Given the description of an element on the screen output the (x, y) to click on. 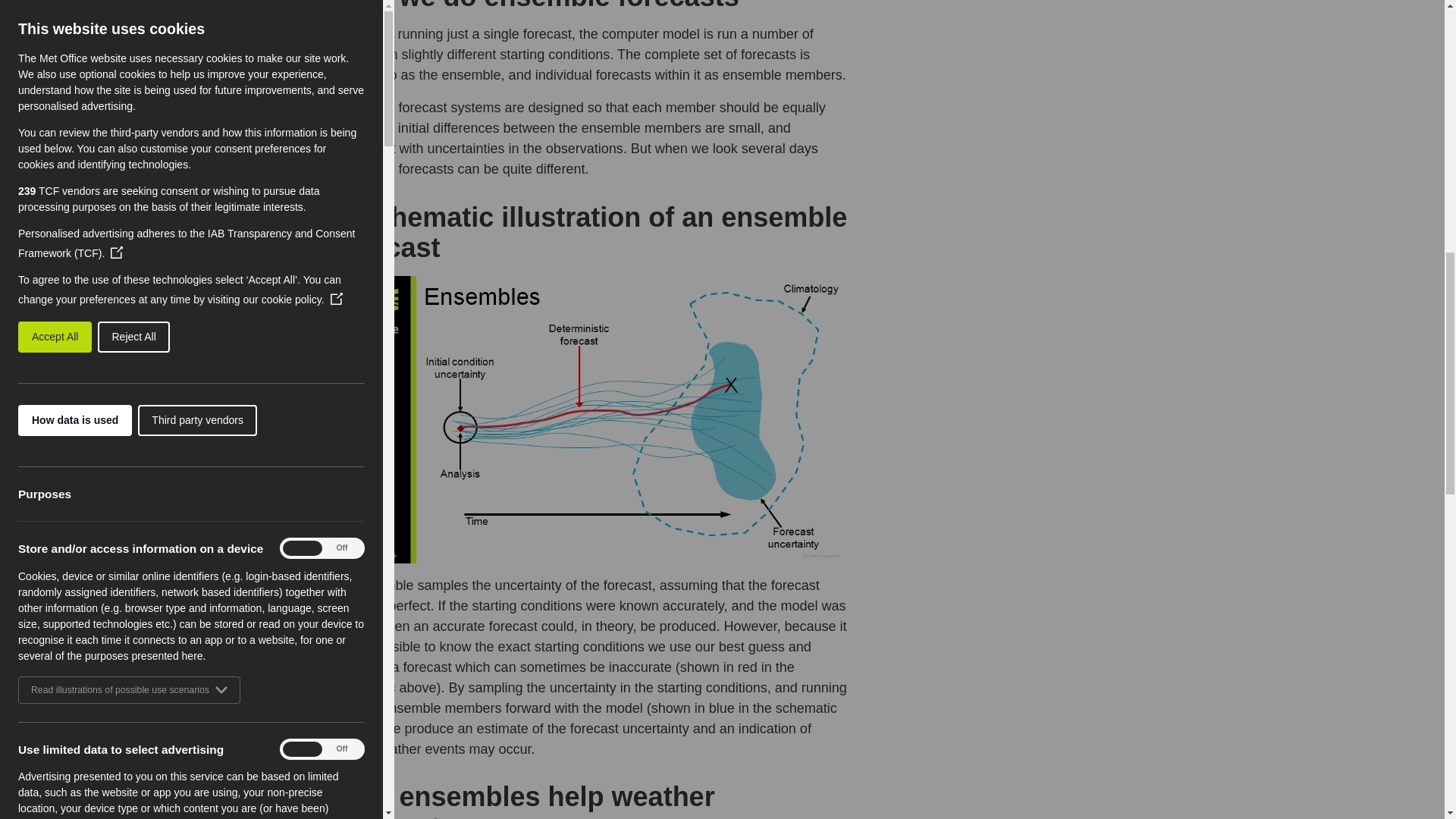
Read illustrations of possible use scenarios (124, 102)
Read illustrations of possible use scenarios (128, 520)
Read illustrations of possible use scenarios (128, 334)
Read illustrations of possible use scenarios (128, 785)
